Given the description of an element on the screen output the (x, y) to click on. 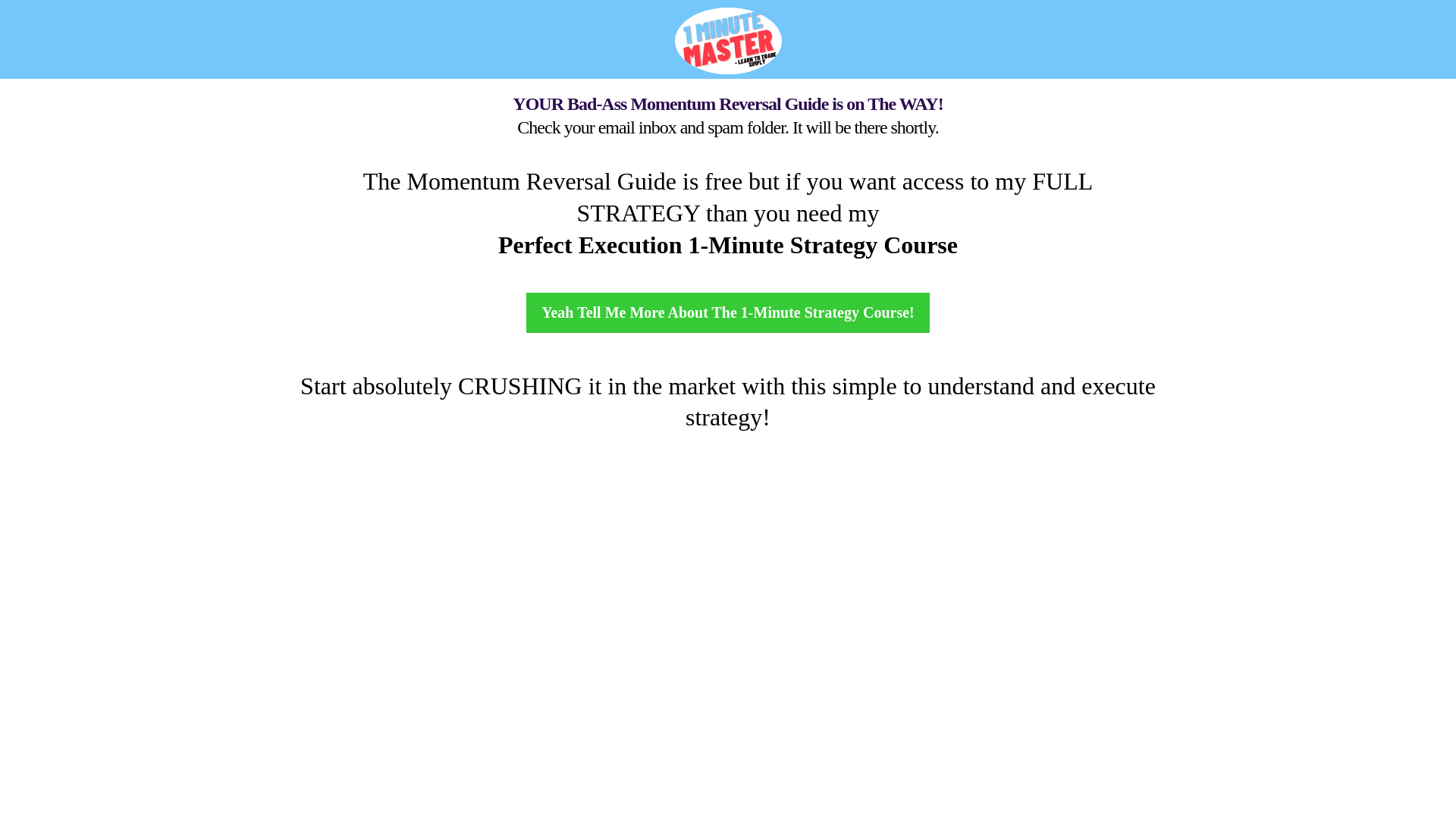
Yeah Tell Me More About The 1-Minute Strategy Course! Element type: text (727, 312)
